Given the description of an element on the screen output the (x, y) to click on. 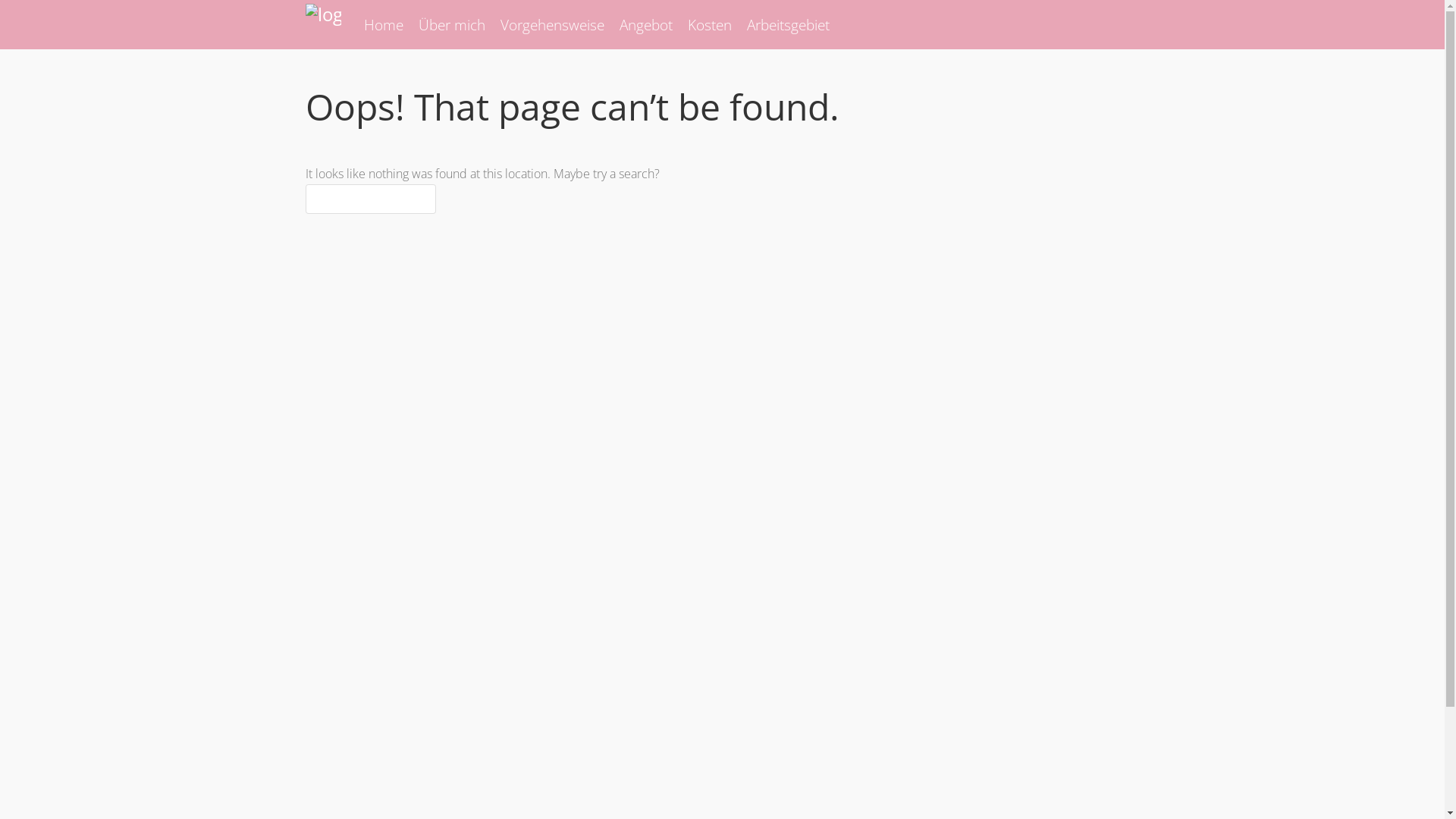
Home Element type: text (383, 24)
Search Element type: text (32, 15)
Search for: Element type: hover (369, 198)
Vorgehensweise Element type: text (551, 24)
Kosten Element type: text (708, 24)
Angebot Element type: text (645, 24)
